Given the description of an element on the screen output the (x, y) to click on. 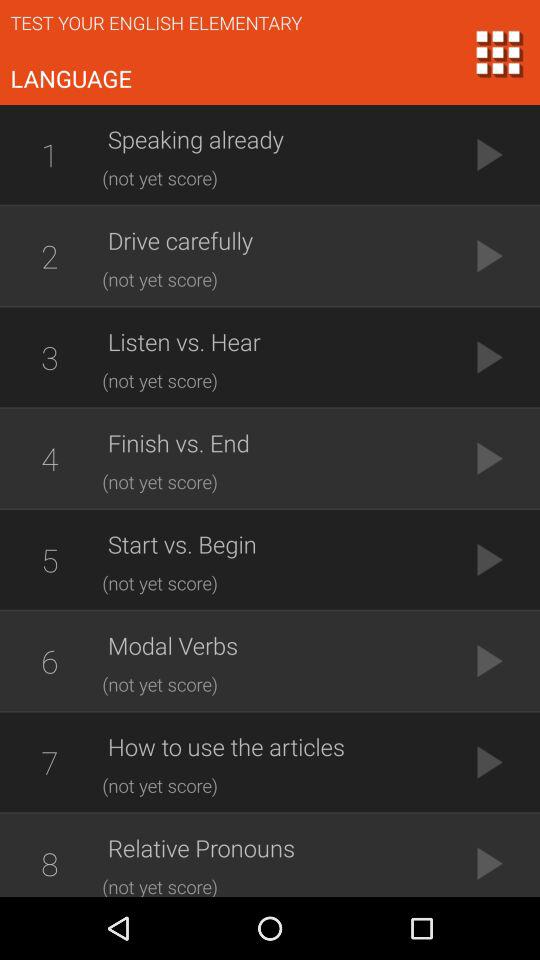
turn off item to the left of the  drive carefully item (49, 256)
